Given the description of an element on the screen output the (x, y) to click on. 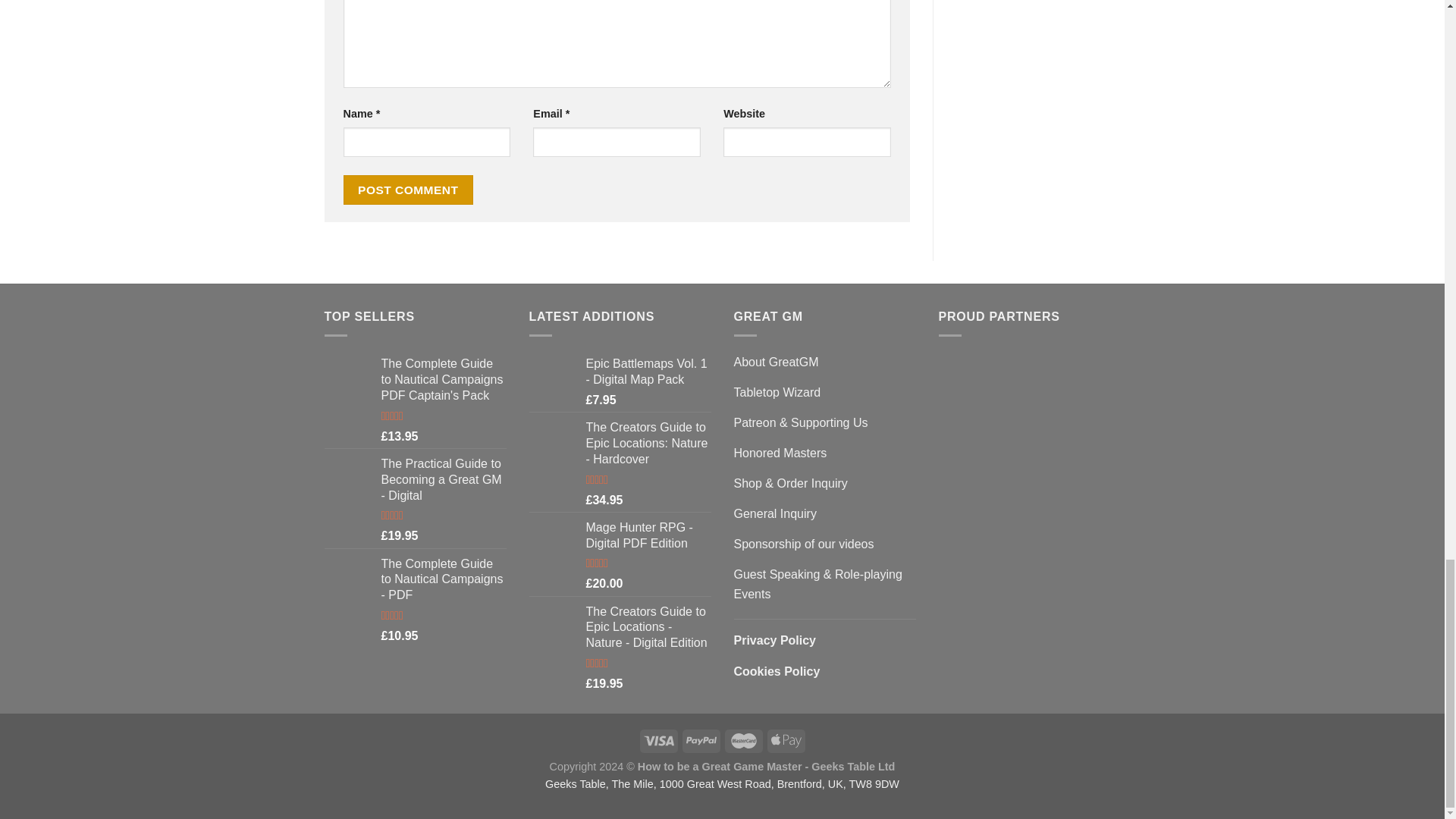
Tabletop Wizard (1003, 412)
World Anvil Logo (999, 619)
Post Comment (407, 189)
Dungeonfog Logo (968, 527)
